Given the description of an element on the screen output the (x, y) to click on. 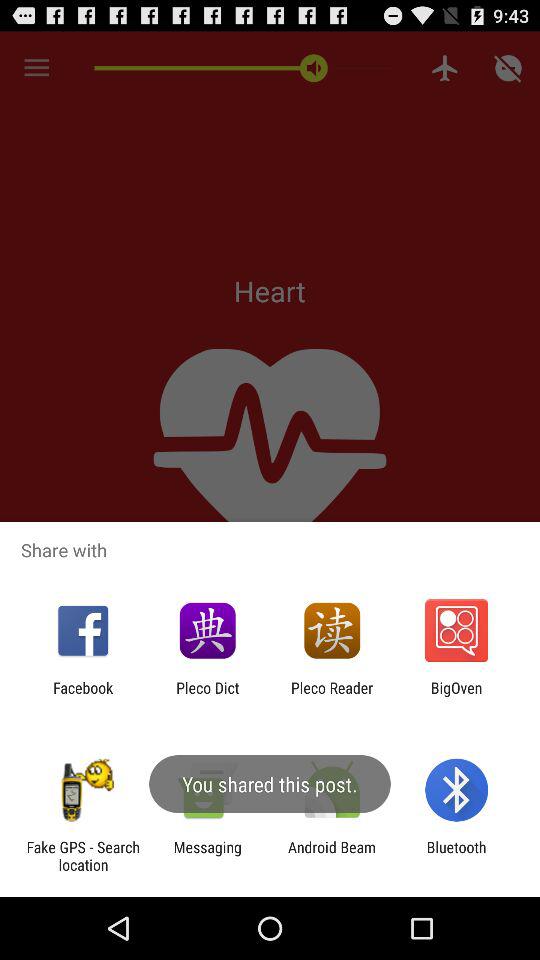
launch the icon to the right of fake gps search item (207, 856)
